Given the description of an element on the screen output the (x, y) to click on. 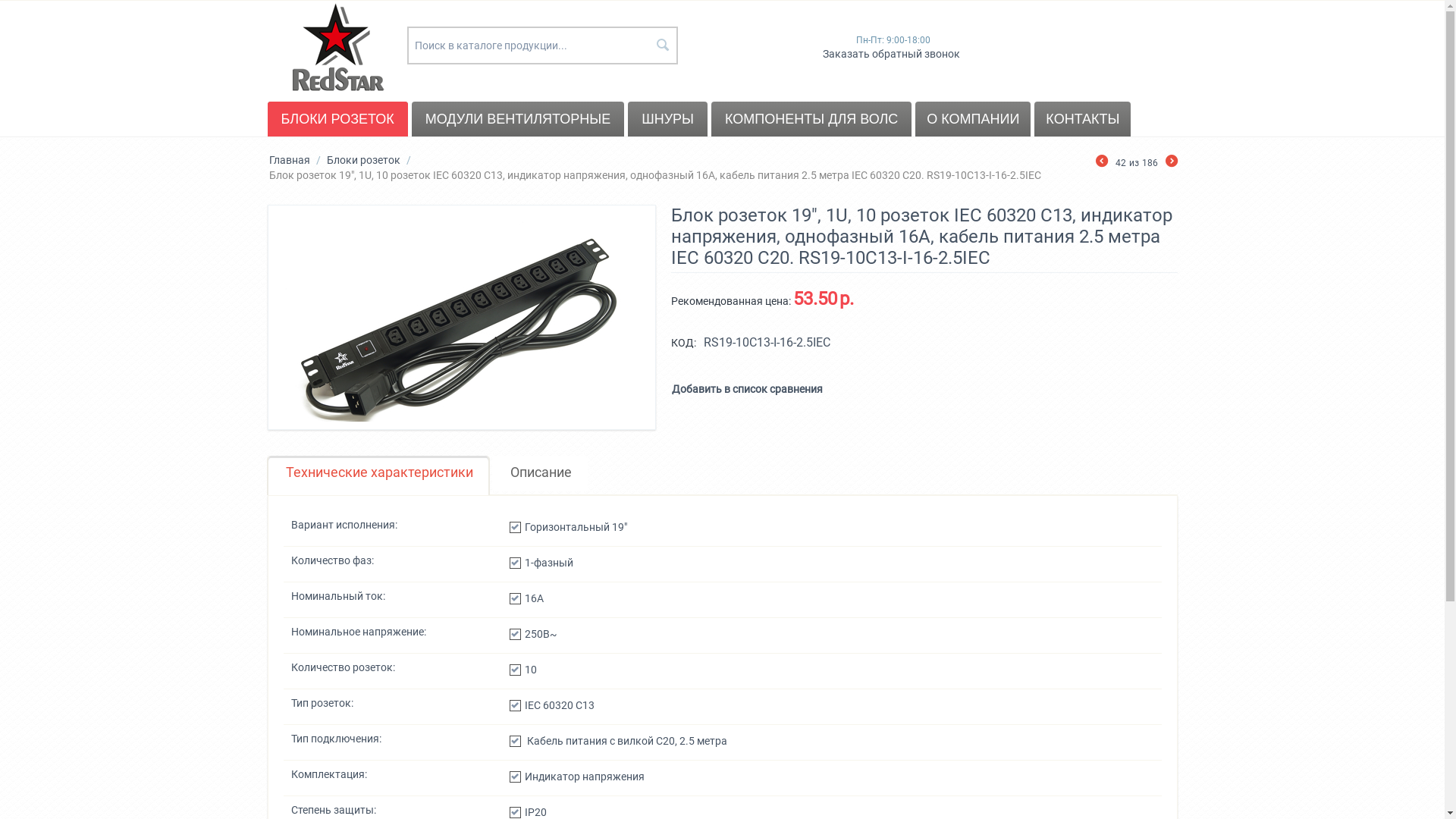
IP20 Element type: hover (514, 812)
IEC 60320 C13 Element type: hover (514, 705)
10 Element type: hover (514, 669)
